Given the description of an element on the screen output the (x, y) to click on. 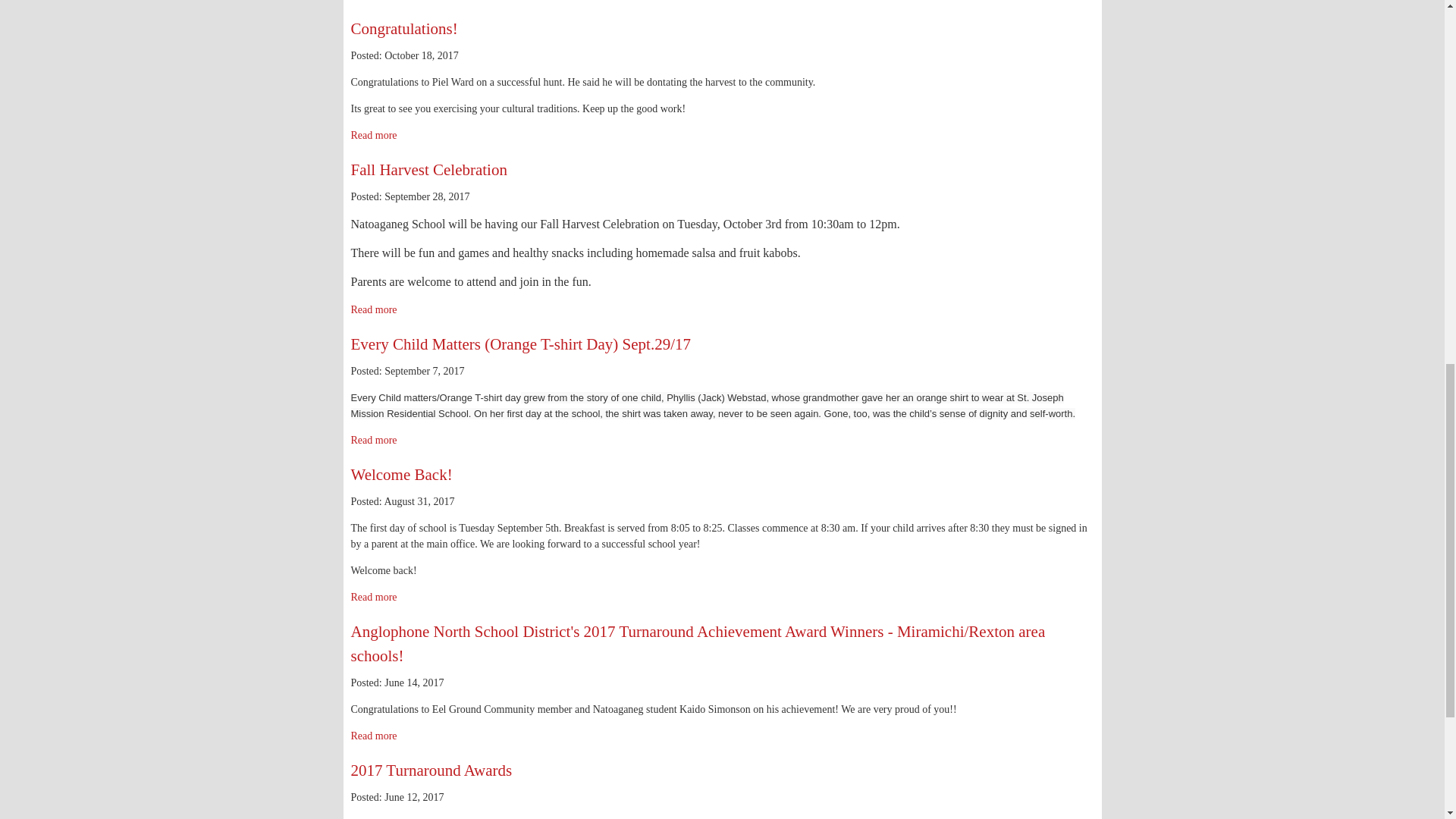
Read more (373, 596)
Congratulations! (403, 28)
Welcome Back! (400, 475)
Read more (373, 134)
Fall Harvest Celebration (428, 169)
Read more (373, 736)
Read more (373, 309)
2017 Turnaround Awards (431, 770)
Read more (373, 439)
